Given the description of an element on the screen output the (x, y) to click on. 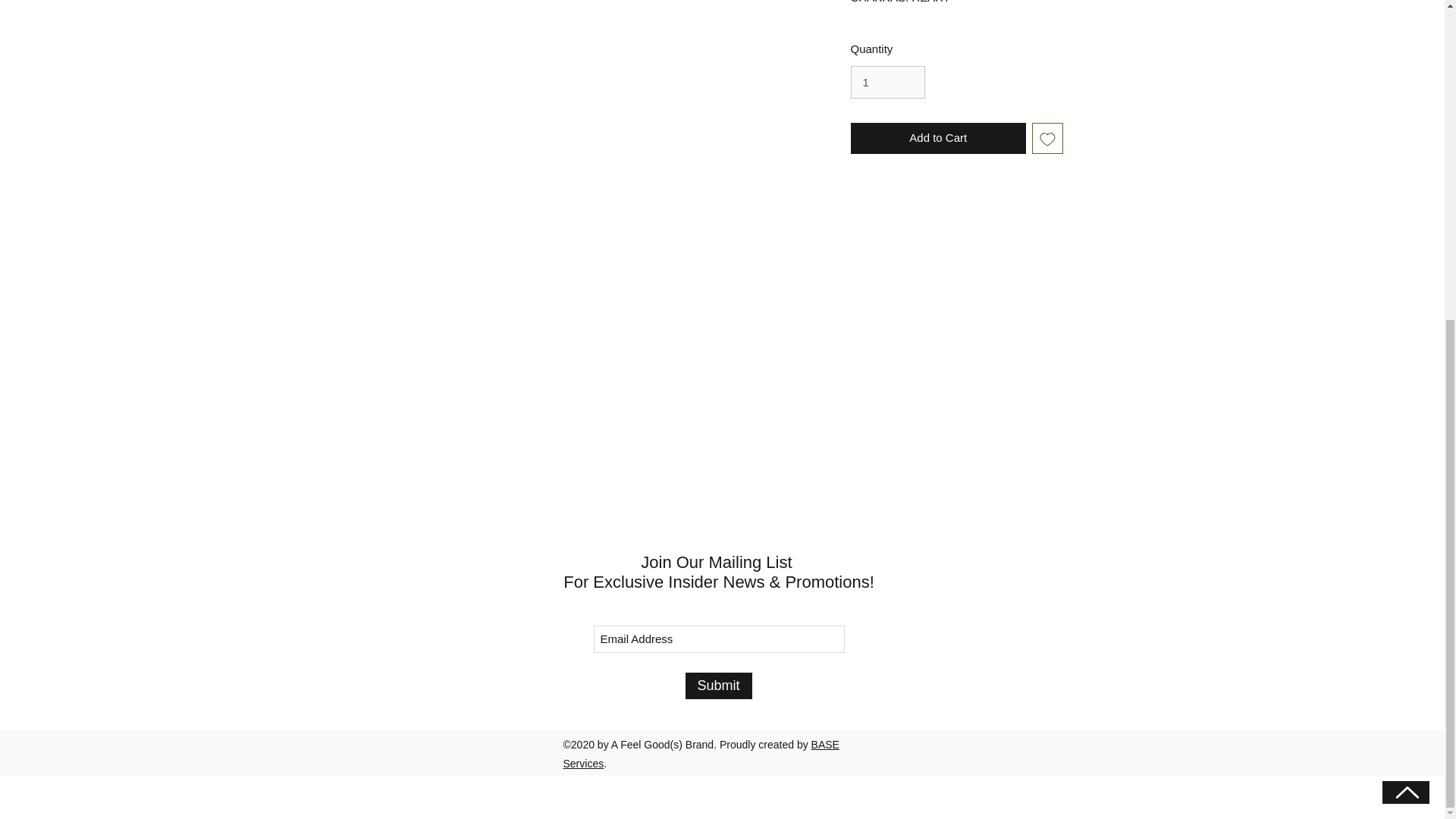
Submit (718, 685)
1 (887, 82)
BASE Services (700, 753)
Add to Cart (938, 137)
